Given the description of an element on the screen output the (x, y) to click on. 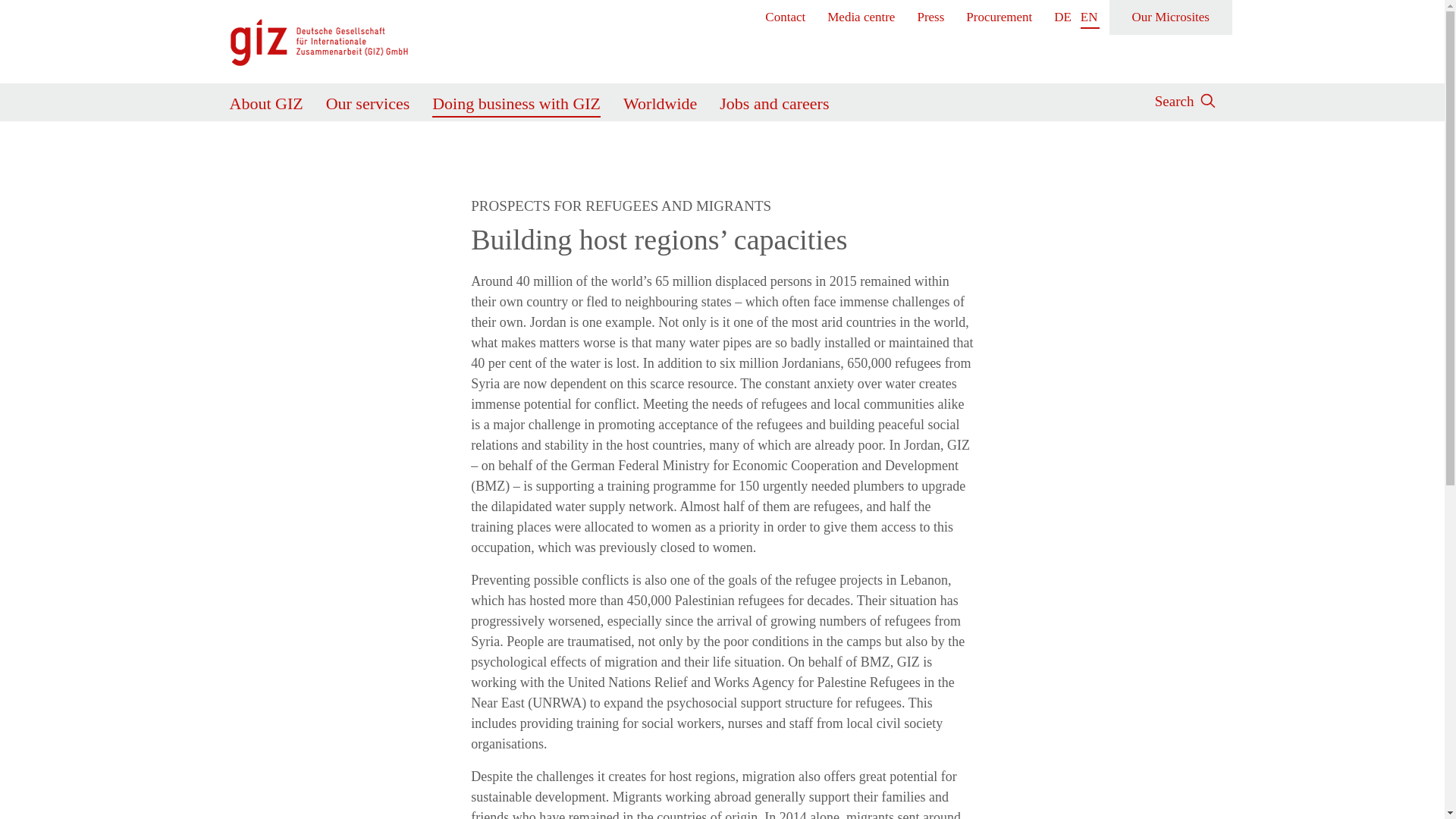
About GIZ (265, 99)
Our services (368, 99)
Media centre (861, 17)
Procurement (999, 17)
Press (930, 17)
German (1063, 17)
Search (1173, 98)
DE (1063, 17)
Doing business with GIZ (515, 100)
Worldwide (660, 99)
